Given the description of an element on the screen output the (x, y) to click on. 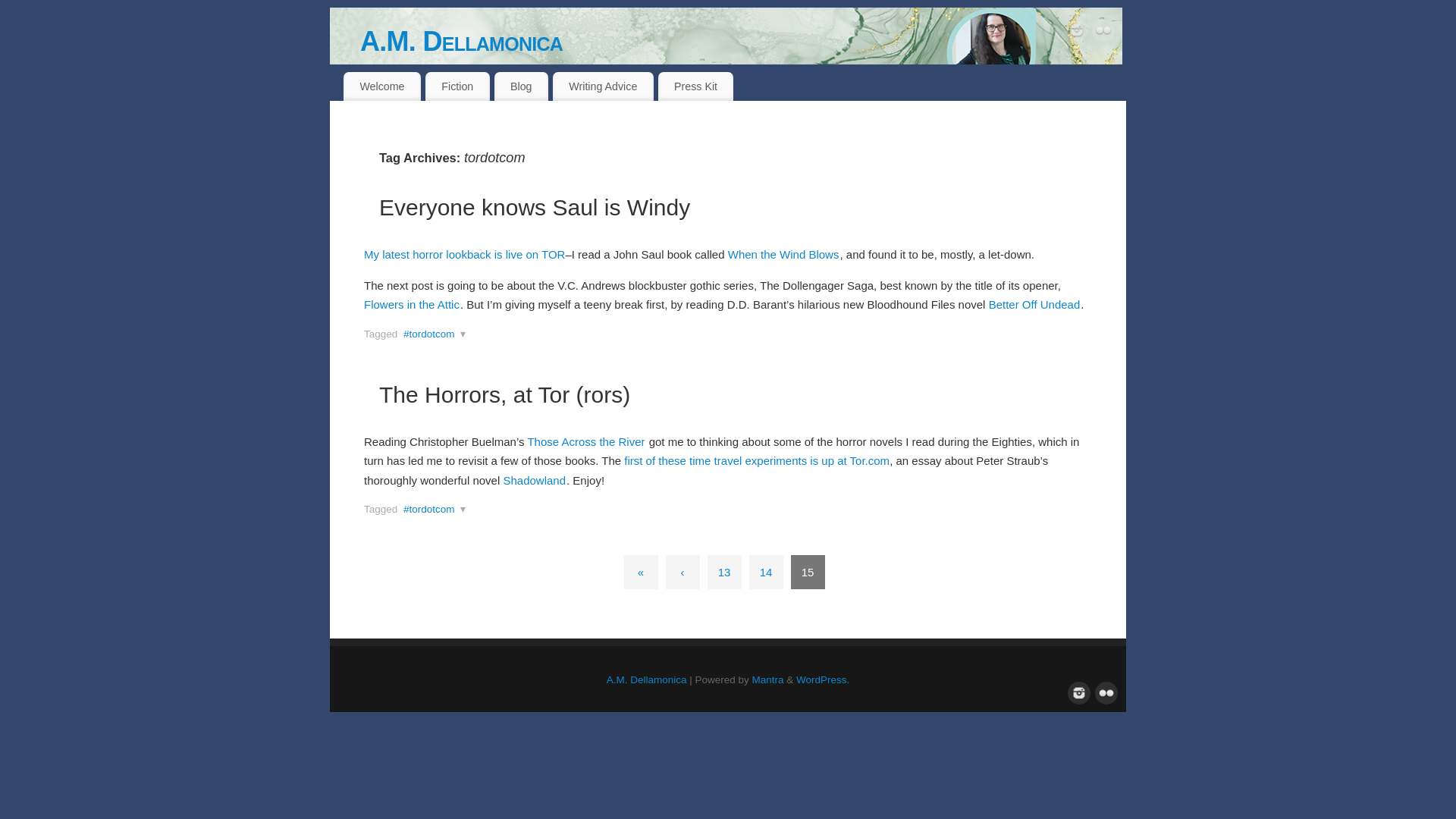
When the Wind Blows (784, 254)
A.M. Dellamonica (742, 41)
A.M. Dellamonica (742, 41)
Shadowland (534, 480)
My latest horror lookback is live on TOR (464, 254)
Everyone knows Saul is Windy (534, 207)
first of these time travel experiments is up at Tor.com (756, 460)
Blog (521, 86)
Press Kit (695, 86)
Those Across the River (586, 440)
